Given the description of an element on the screen output the (x, y) to click on. 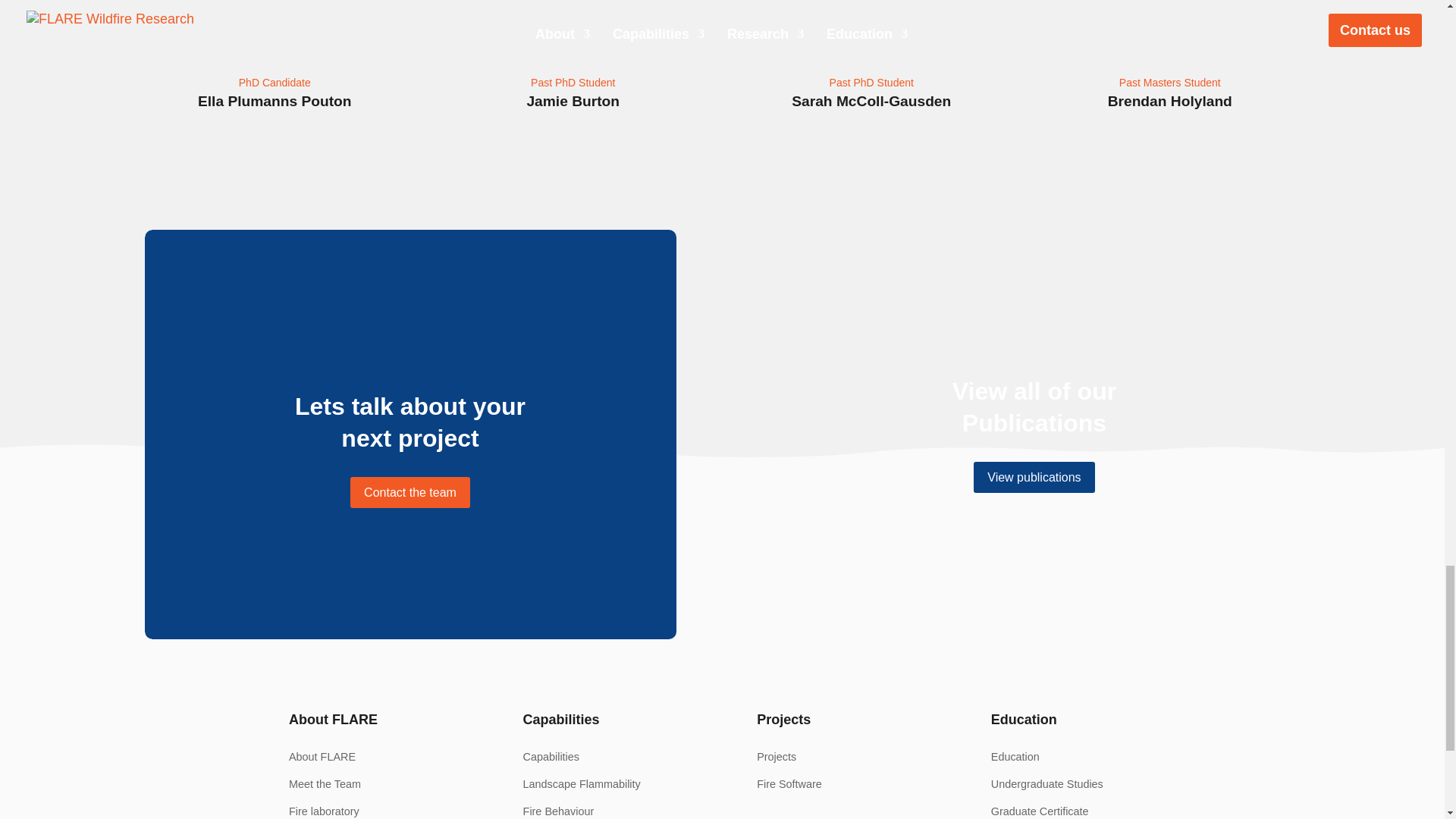
Fire Behaviour (558, 811)
Landscape Flammability (581, 784)
Meet the Team (324, 784)
Fire laboratory (323, 811)
Capabilities (550, 756)
Contact the team (410, 491)
About FLARE (321, 756)
View publications (1034, 477)
